Given the description of an element on the screen output the (x, y) to click on. 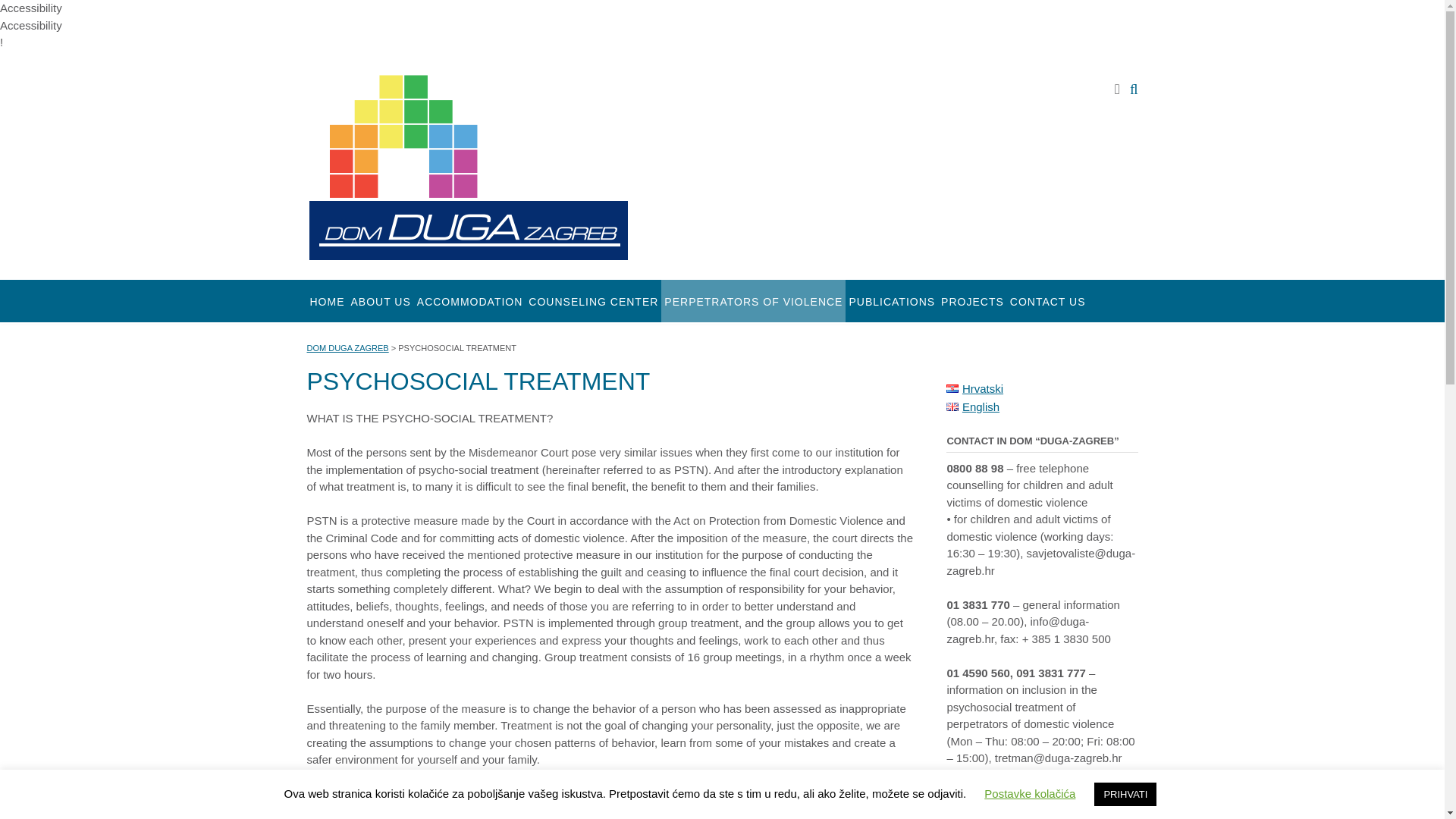
ACCOMMODATION (469, 300)
Hrvatski (974, 388)
PRIHVATI (1125, 793)
PROJECTS (972, 300)
Send us an email (1117, 88)
COUNSELING CENTER (593, 300)
DOM DUGA ZAGREB (346, 347)
PERPETRATORS OF VIOLENCE (753, 300)
HOME (326, 300)
PUBLICATIONS (891, 300)
Go to DOM DUGA ZAGREB. (346, 347)
English (972, 406)
ABOUT US (380, 300)
CONTACT US (1048, 300)
